Given the description of an element on the screen output the (x, y) to click on. 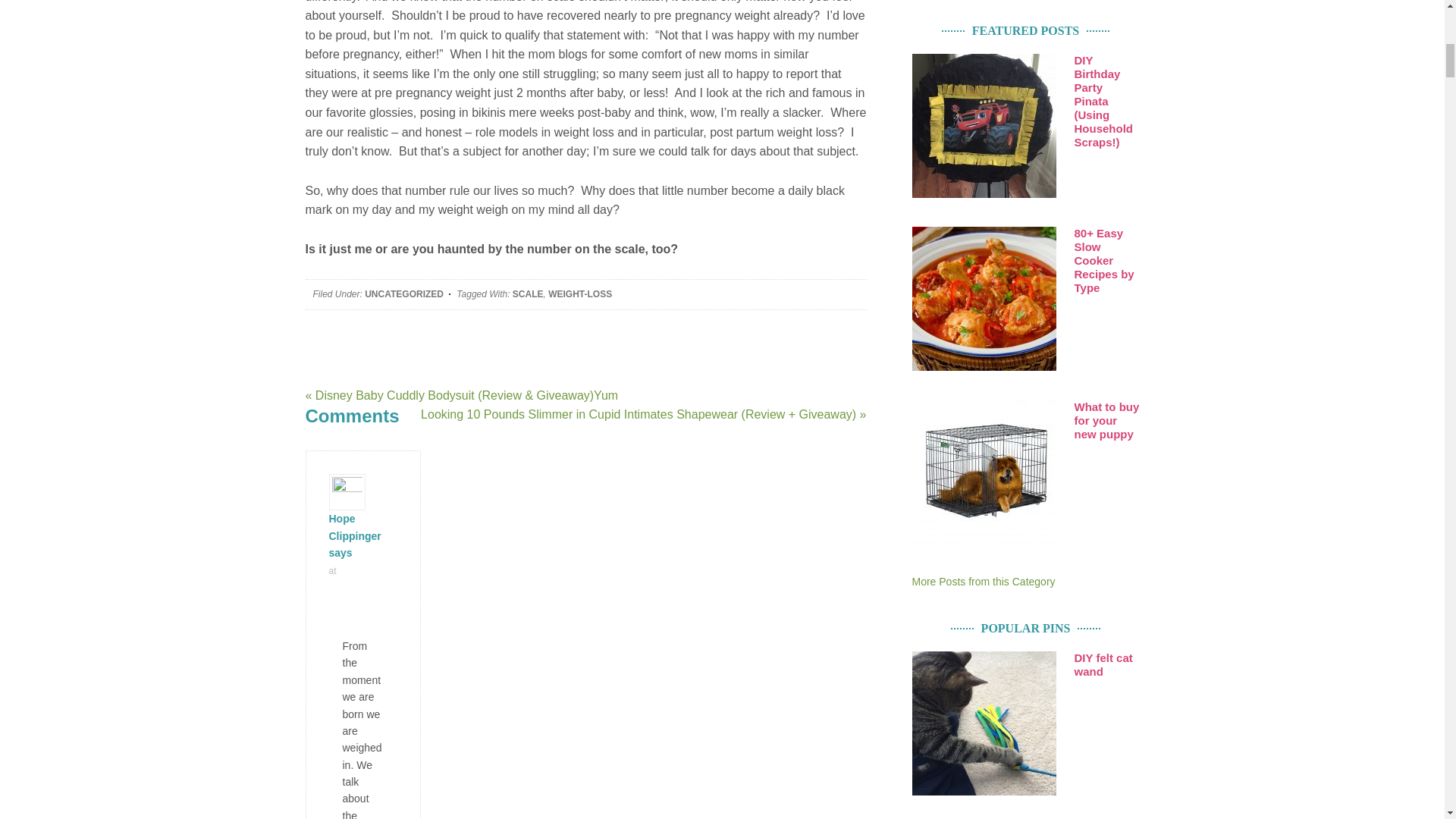
In Season (982, 581)
